Given the description of an element on the screen output the (x, y) to click on. 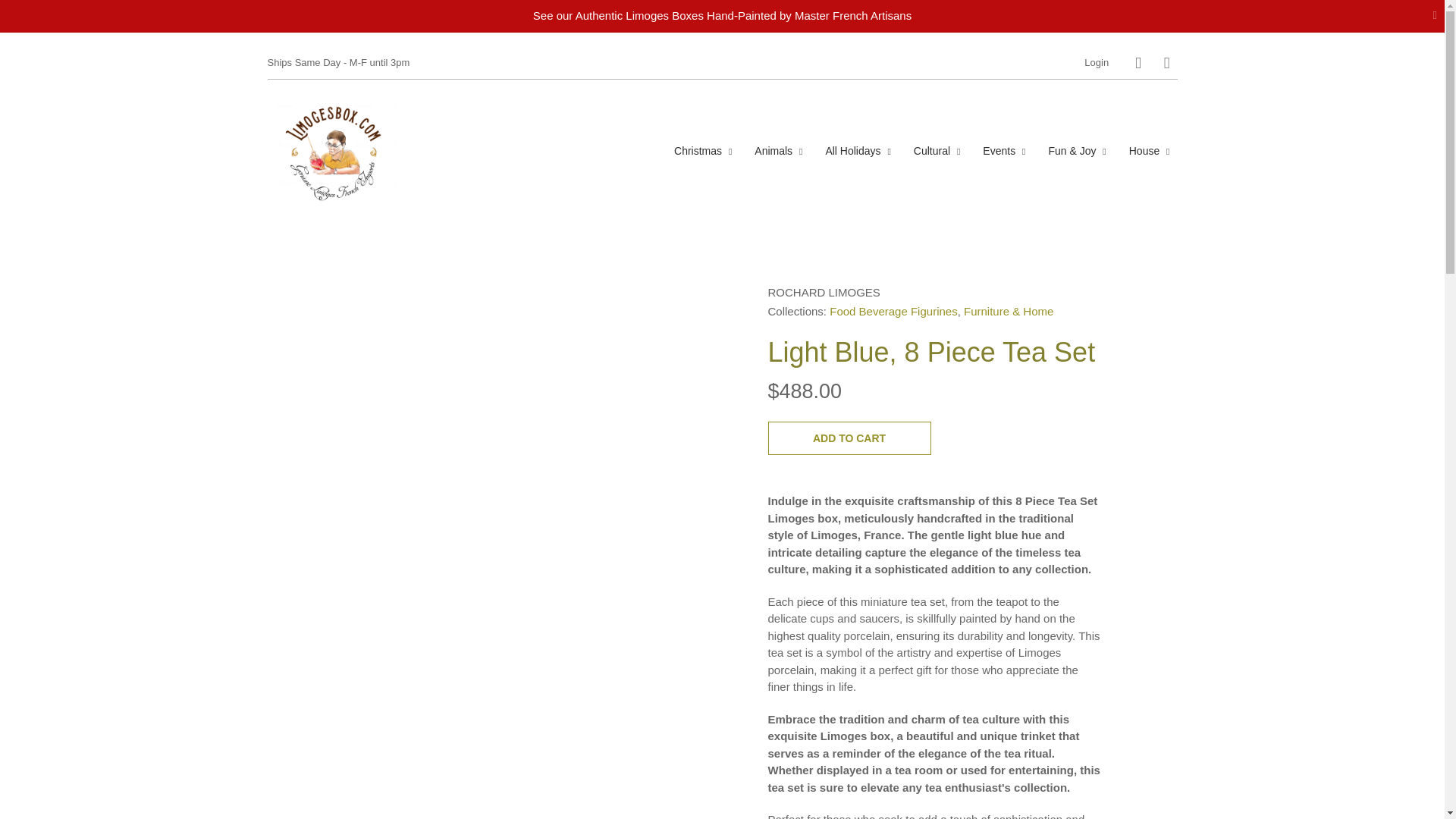
Login (1096, 61)
My Account  (1096, 61)
All Holidays (857, 150)
Cultural (936, 150)
Animals (777, 150)
Christmas (702, 150)
Food Beverage Figurines (892, 310)
Rochard Limoges (823, 291)
